Given the description of an element on the screen output the (x, y) to click on. 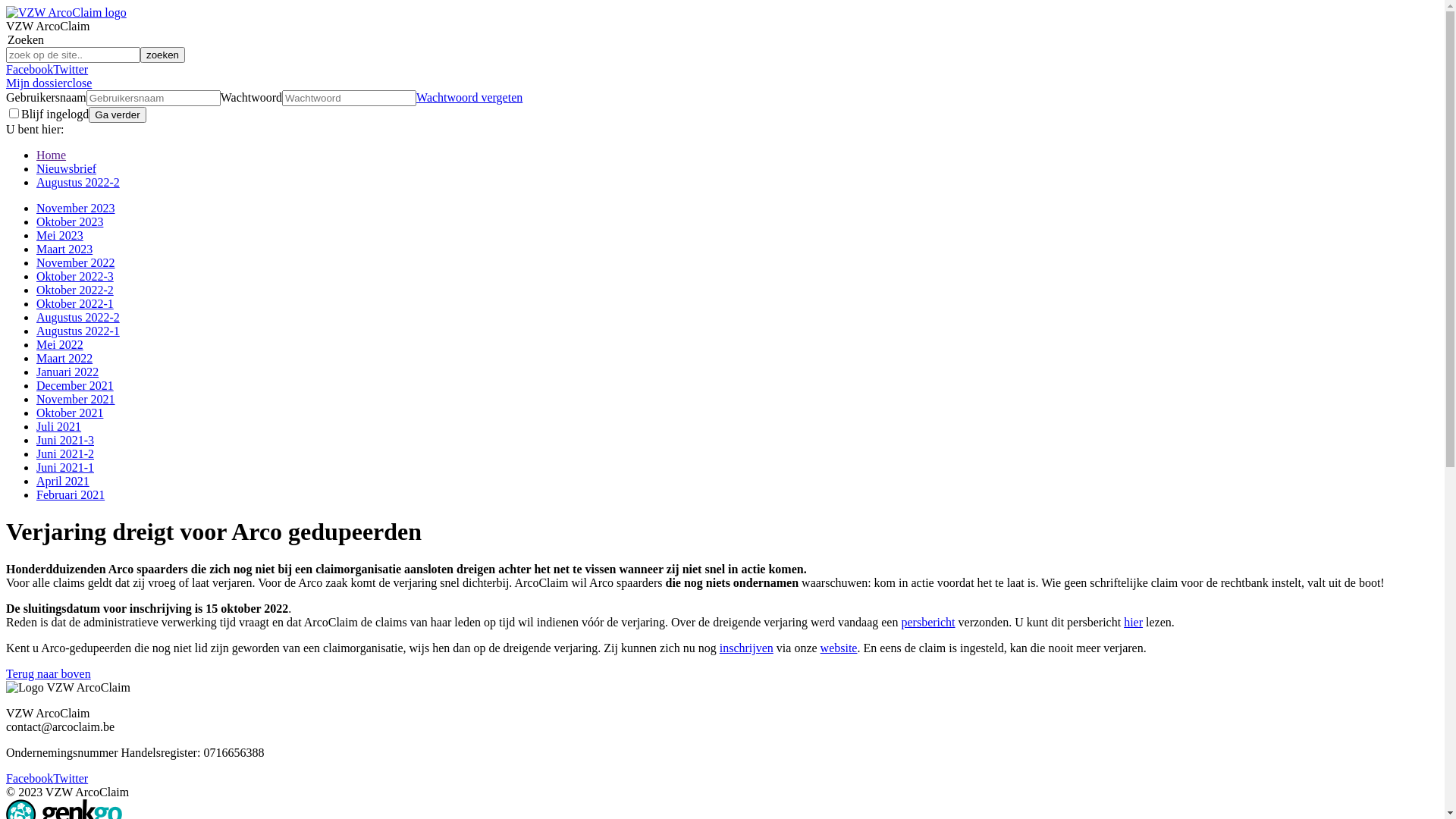
Februari 2021 Element type: text (70, 494)
Facebook Element type: text (29, 777)
Terug naar boven Element type: text (48, 673)
Oktober 2022-1 Element type: text (74, 303)
Maart 2023 Element type: text (64, 248)
zoeken Element type: text (162, 54)
Januari 2022 Element type: text (67, 371)
Oktober 2022-3 Element type: text (74, 275)
Ga verder Element type: text (116, 114)
hier Element type: text (1132, 621)
November 2022 Element type: text (75, 262)
Mijn dossierclose Element type: text (48, 82)
April 2021 Element type: text (62, 480)
Twitter Element type: text (70, 777)
Facebook Element type: text (29, 68)
persbericht Element type: text (927, 621)
Augustus 2022-2 Element type: text (77, 316)
Oktober 2021 Element type: text (69, 412)
Oktober 2023 Element type: text (69, 221)
Maart 2022 Element type: text (64, 357)
Augustus 2022-1 Element type: text (77, 330)
Augustus 2022-2 Element type: text (77, 181)
December 2021 Element type: text (74, 385)
November 2021 Element type: text (75, 398)
Juni 2021-2 Element type: text (65, 453)
Twitter Element type: text (70, 68)
inschrijven Element type: text (746, 647)
Mei 2022 Element type: text (59, 344)
Oktober 2022-2 Element type: text (74, 289)
November 2023 Element type: text (75, 207)
Nieuwsbrief Element type: text (66, 168)
website Element type: text (838, 647)
Wachtwoord vergeten Element type: text (469, 97)
Juni 2021-1 Element type: text (65, 467)
Juni 2021-3 Element type: text (65, 439)
Mei 2023 Element type: text (59, 235)
Juli 2021 Element type: text (58, 426)
Home Element type: text (50, 154)
